Given the description of an element on the screen output the (x, y) to click on. 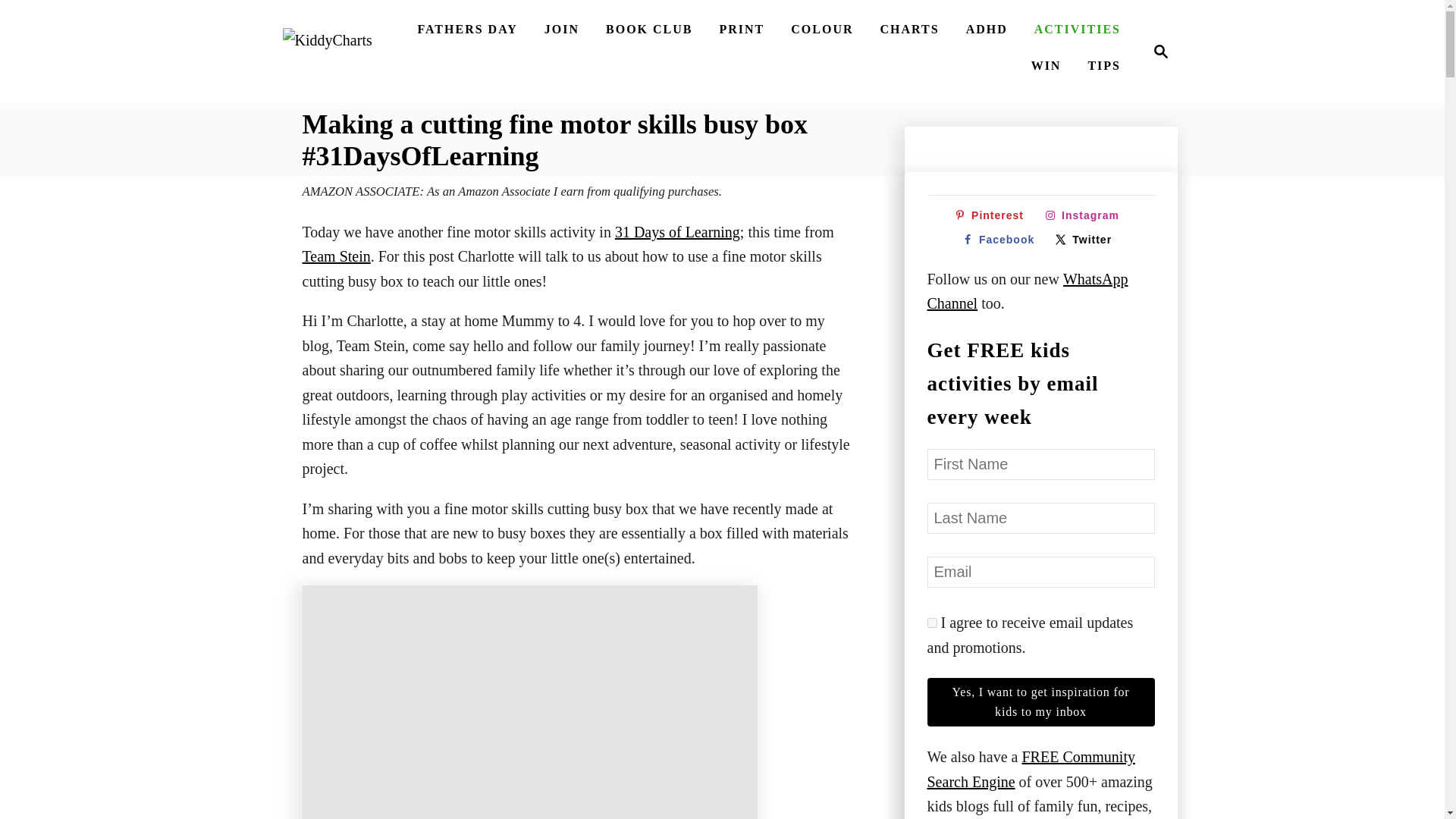
ADHD (986, 29)
CHARTS (1155, 51)
Follow on Facebook (909, 29)
KiddyCharts (1001, 239)
PRINT (326, 51)
JOIN (741, 29)
Magnifying Glass (561, 29)
1 (1160, 51)
Follow on Pinterest (931, 623)
